Given the description of an element on the screen output the (x, y) to click on. 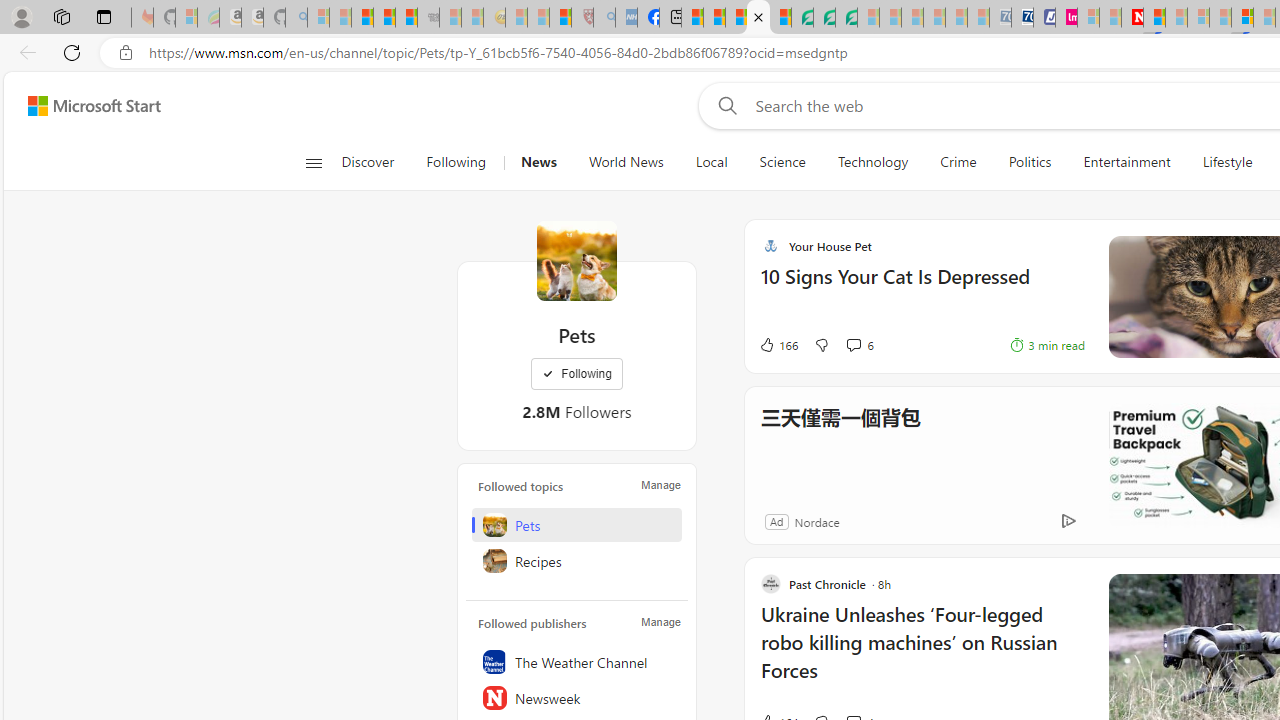
Pets - MSN (758, 17)
Open navigation menu (313, 162)
Recipes (577, 561)
The Weather Channel - MSN (362, 17)
